Given the description of an element on the screen output the (x, y) to click on. 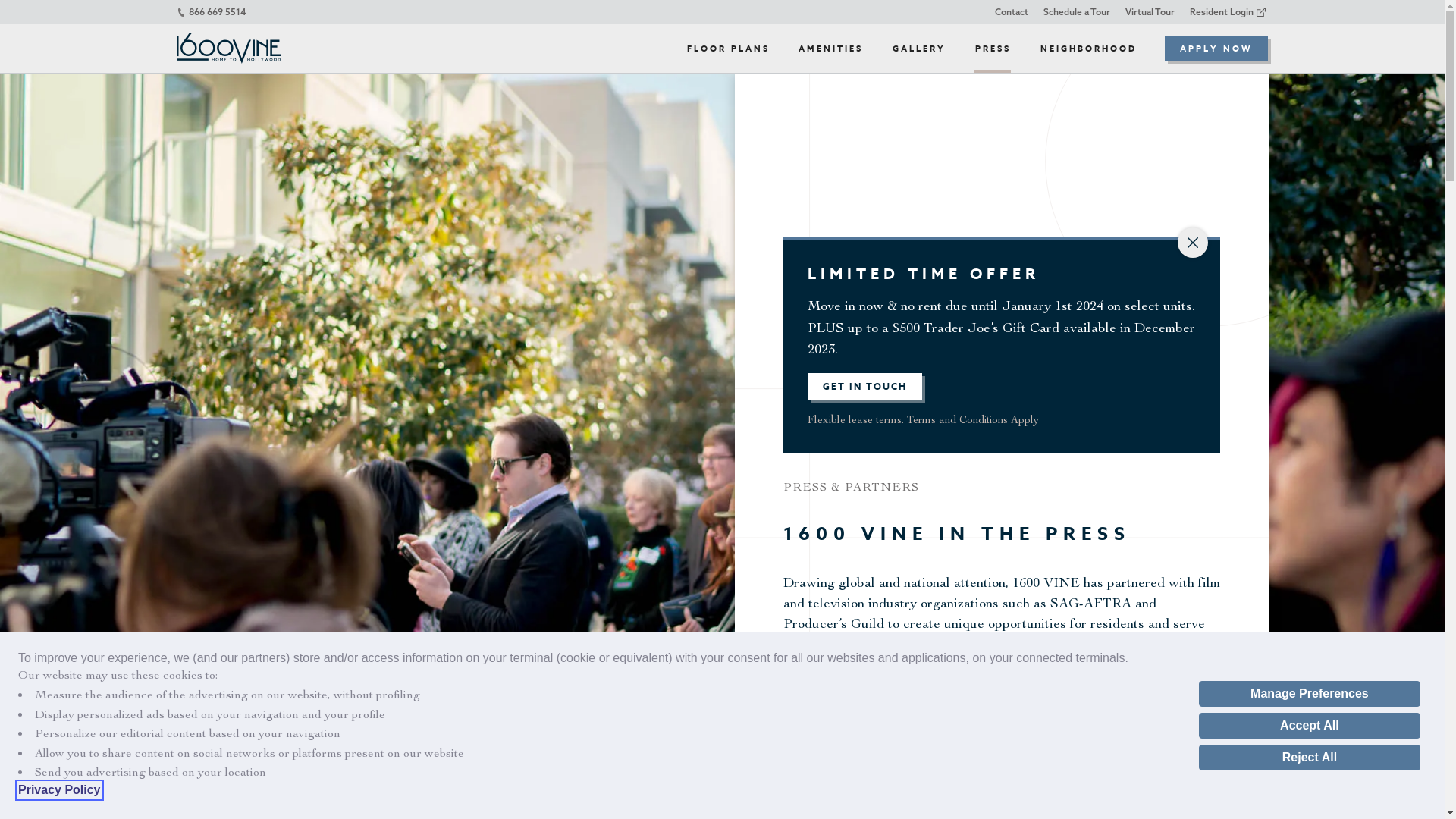
Contact Element type: text (1011, 11)
866 669 5514 Element type: text (210, 11)
AMENITIES Element type: text (829, 48)
Privacy Policy Element type: text (59, 789)
PRESS Element type: text (992, 48)
Manage Preferences Element type: text (1309, 693)
NEIGHBORHOOD Element type: text (1087, 48)
GALLERY Element type: text (918, 48)
FLOOR PLANS Element type: text (726, 48)
Accept All Element type: text (1309, 725)
Reject All Element type: text (1309, 757)
GET IN TOUCH Element type: text (863, 386)
APPLY NOW Element type: text (1215, 48)
Resident Login Element type: text (1226, 11)
Schedule a Tour Element type: text (1076, 11)
Virtual Tour Element type: text (1149, 11)
